Given the description of an element on the screen output the (x, y) to click on. 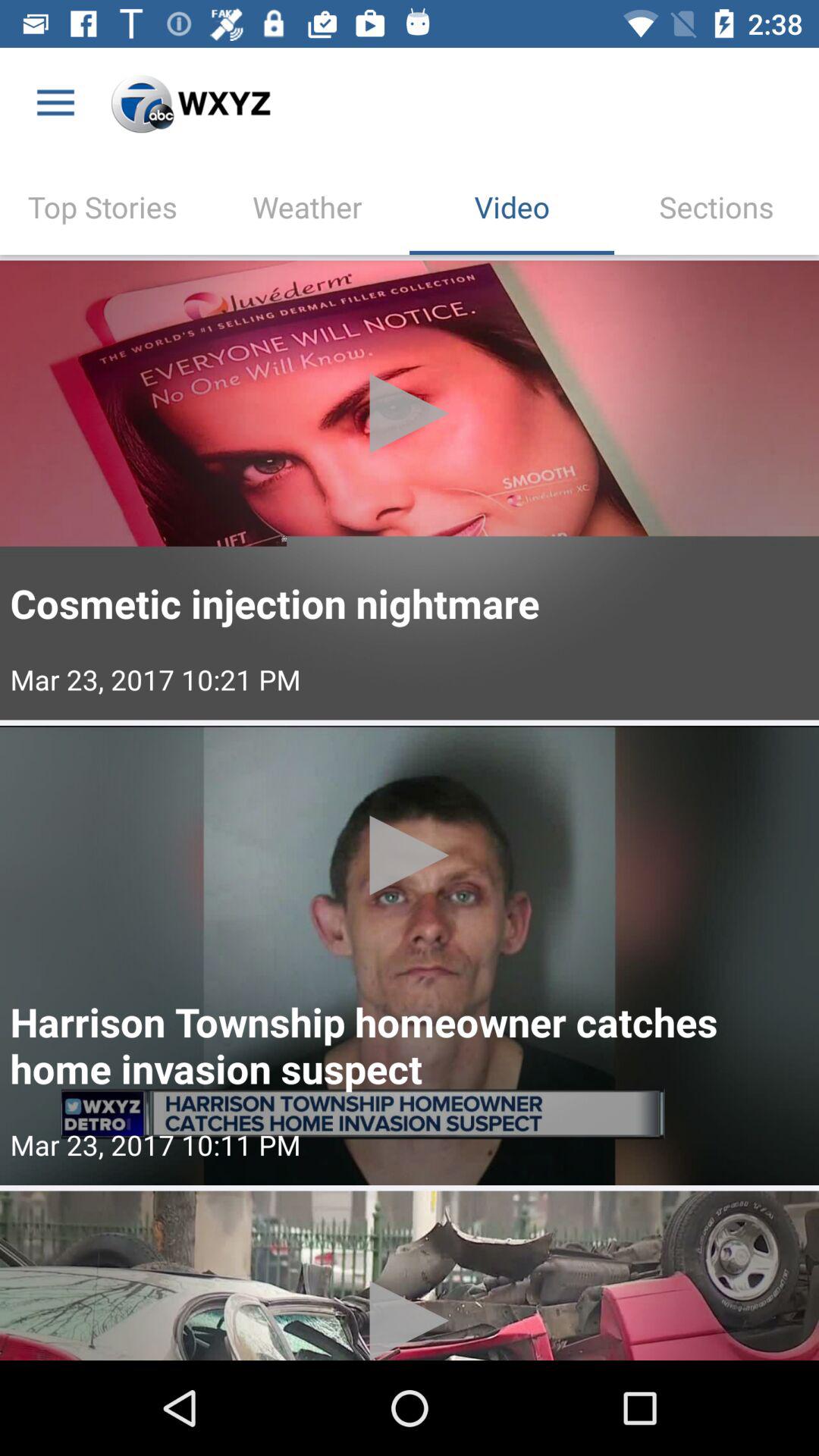
play video (409, 955)
